Given the description of an element on the screen output the (x, y) to click on. 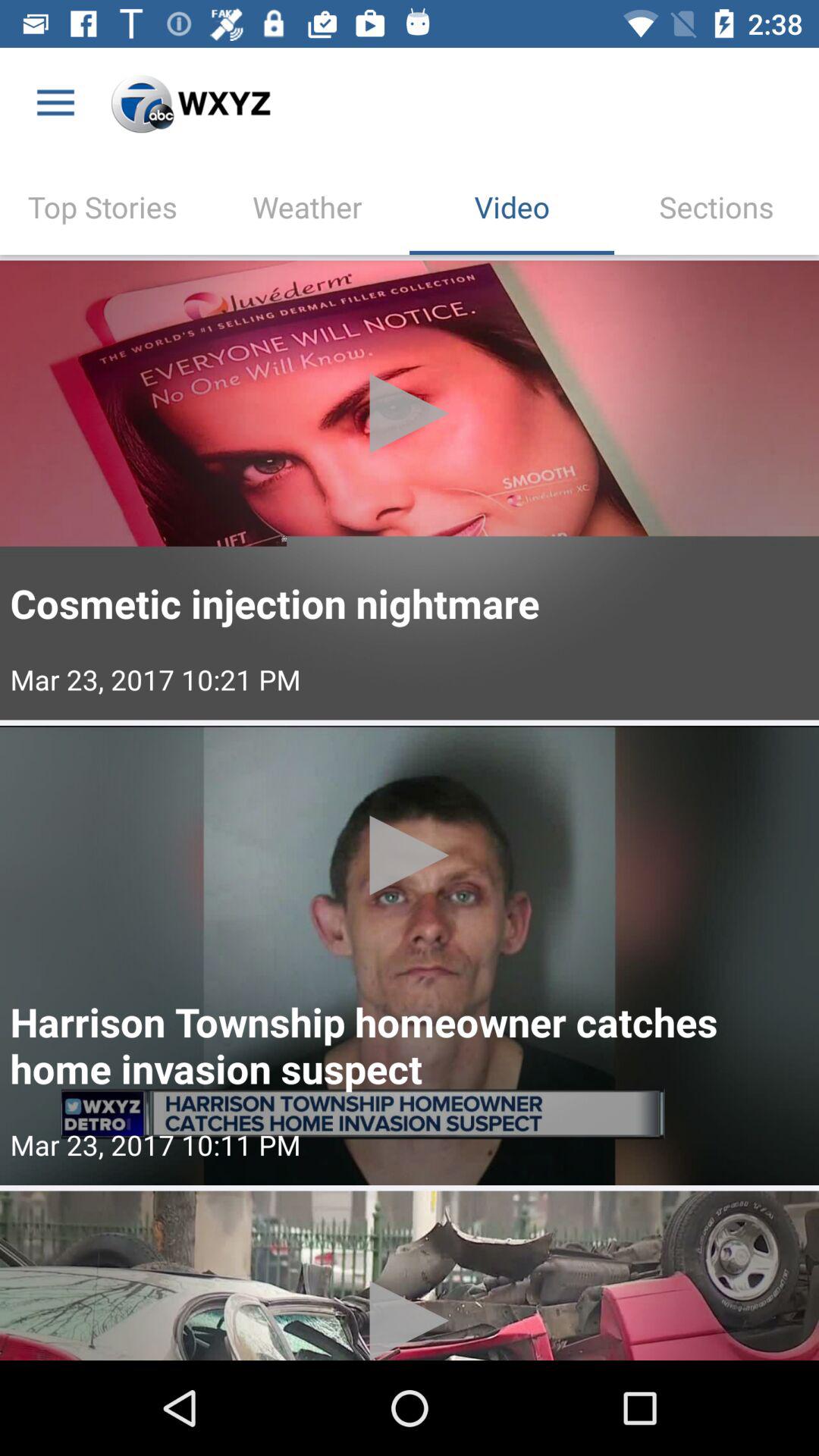
play video (409, 955)
